Given the description of an element on the screen output the (x, y) to click on. 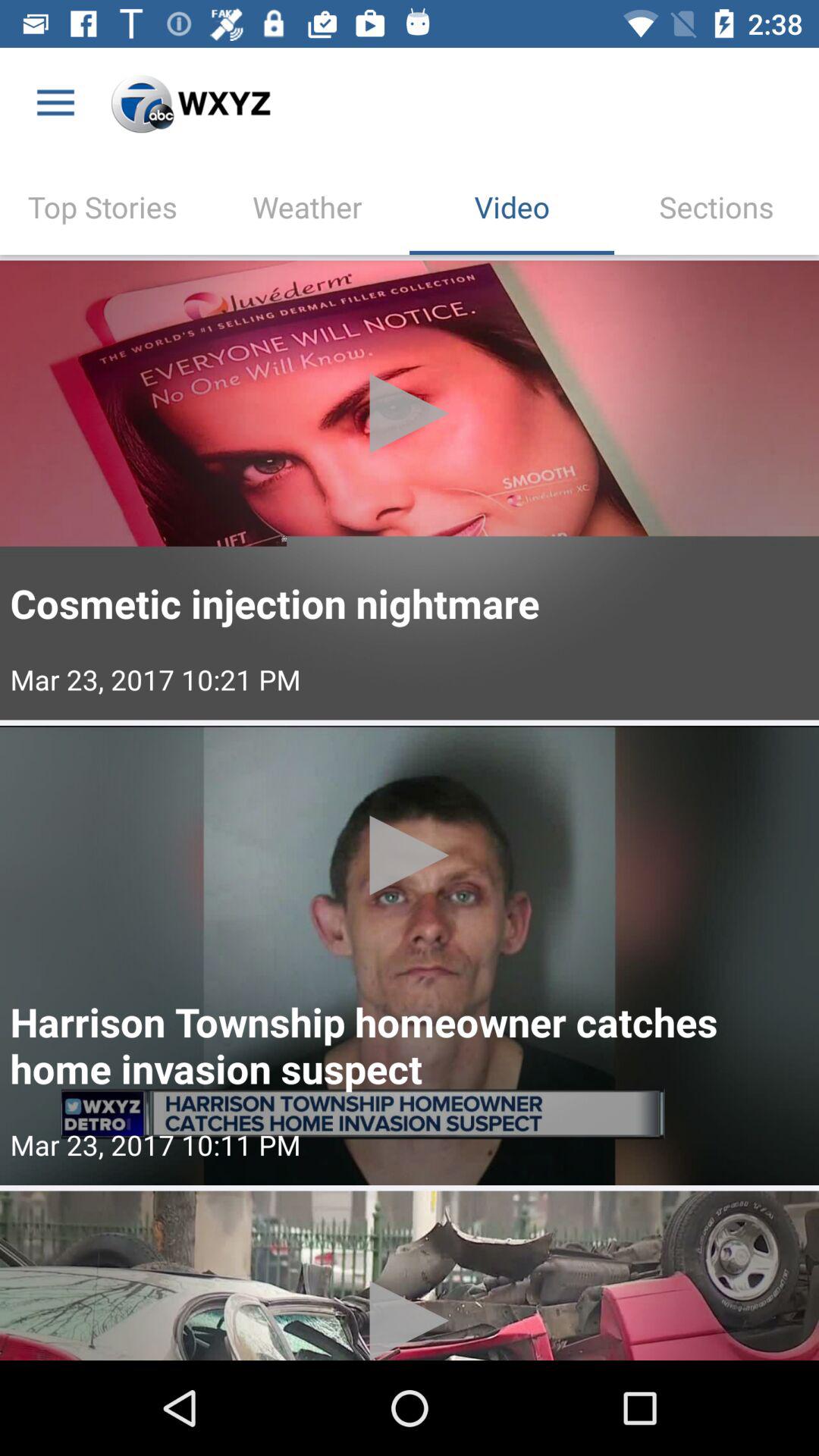
play video (409, 955)
